Given the description of an element on the screen output the (x, y) to click on. 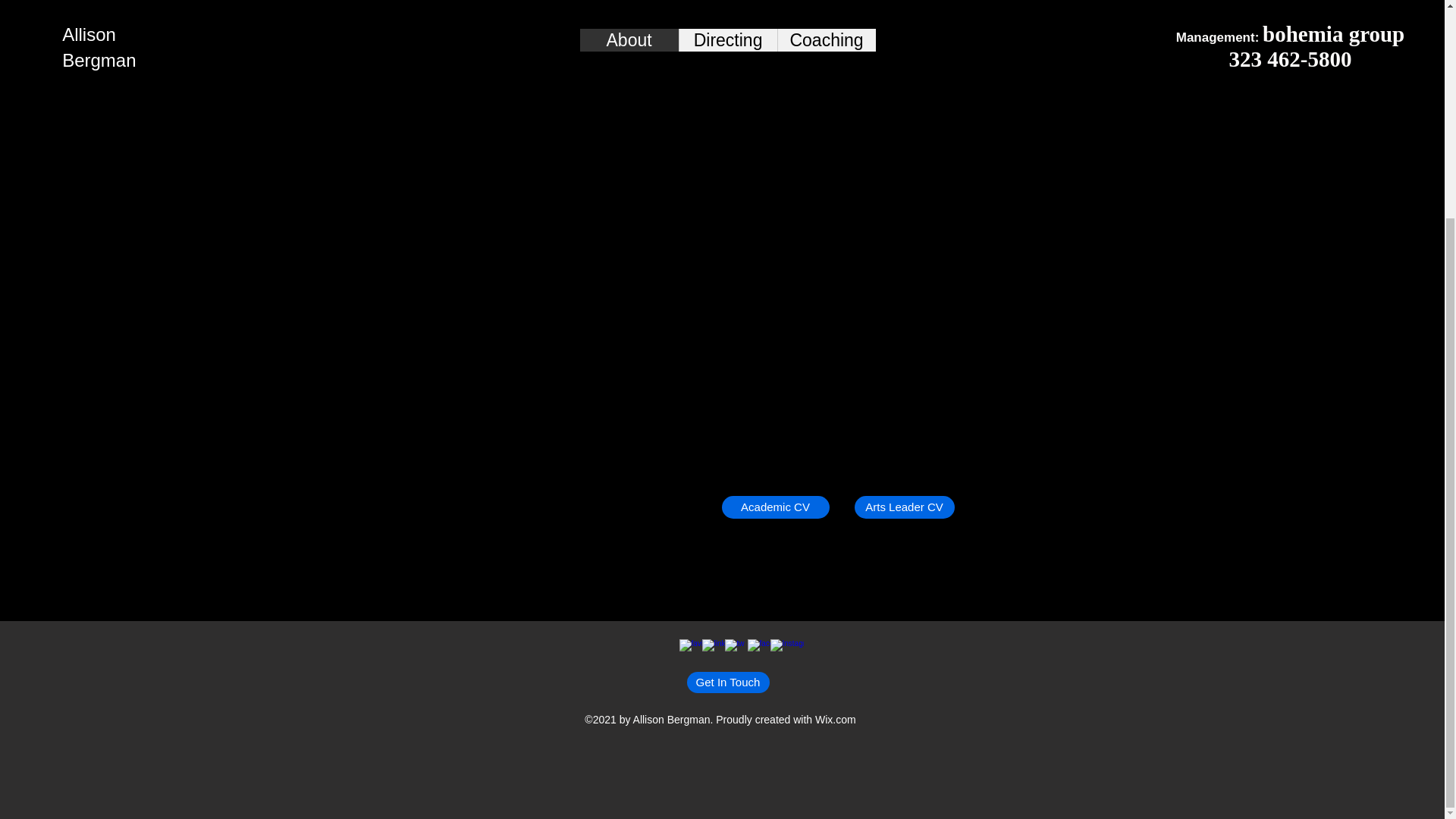
Get In Touch (728, 681)
Academic CV (775, 507)
Arts Leader CV (903, 507)
